Given the description of an element on the screen output the (x, y) to click on. 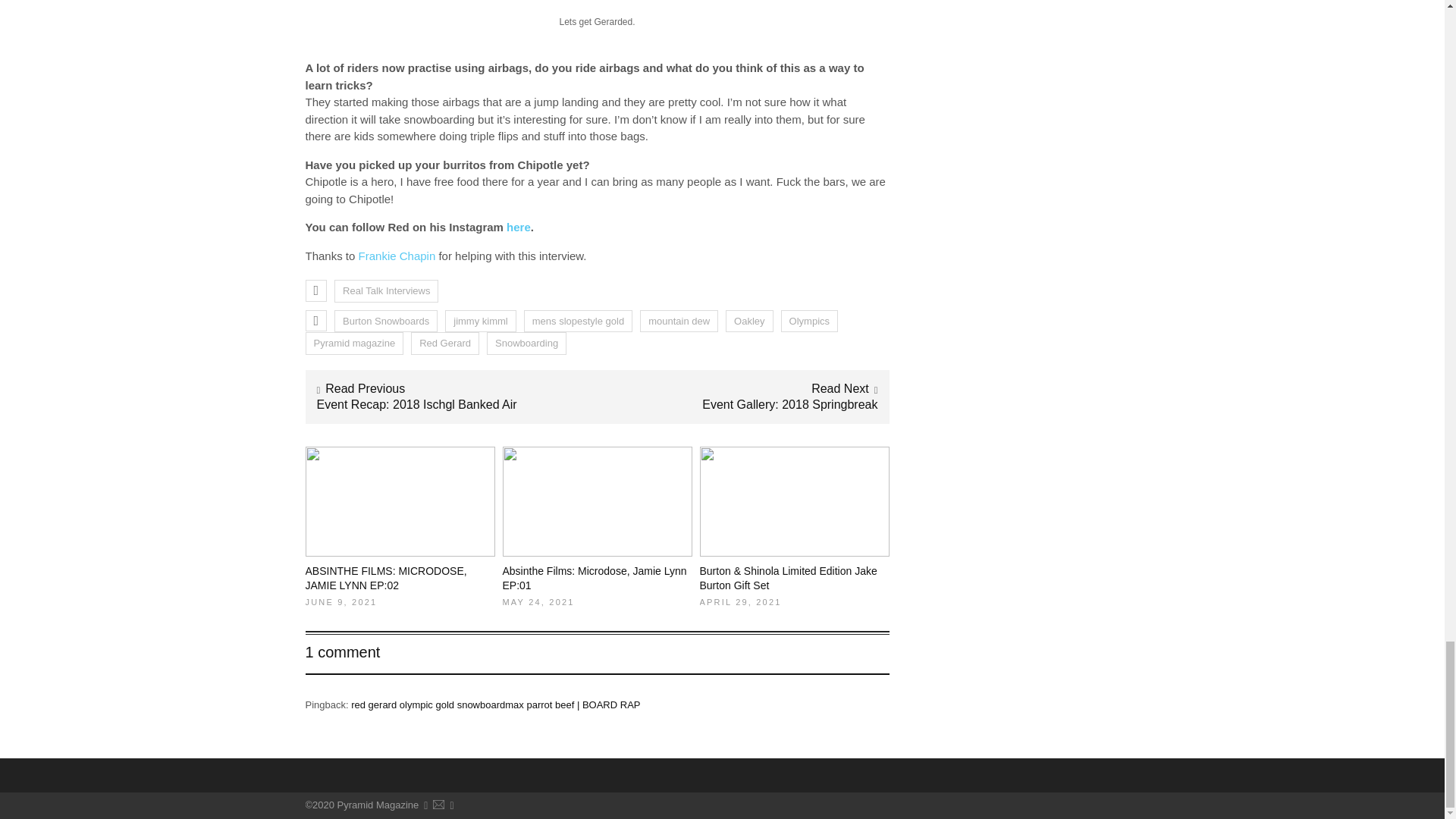
jimmy kimml (480, 321)
here (518, 226)
Event Recap: 2018 Ischgl Banked Air (416, 404)
Snowboarding (526, 343)
mountain dew (678, 321)
Real Talk Interviews (386, 291)
Frankie Chapin (396, 255)
Olympics (809, 321)
mens slopestyle gold (577, 321)
Oakley (749, 321)
